Given the description of an element on the screen output the (x, y) to click on. 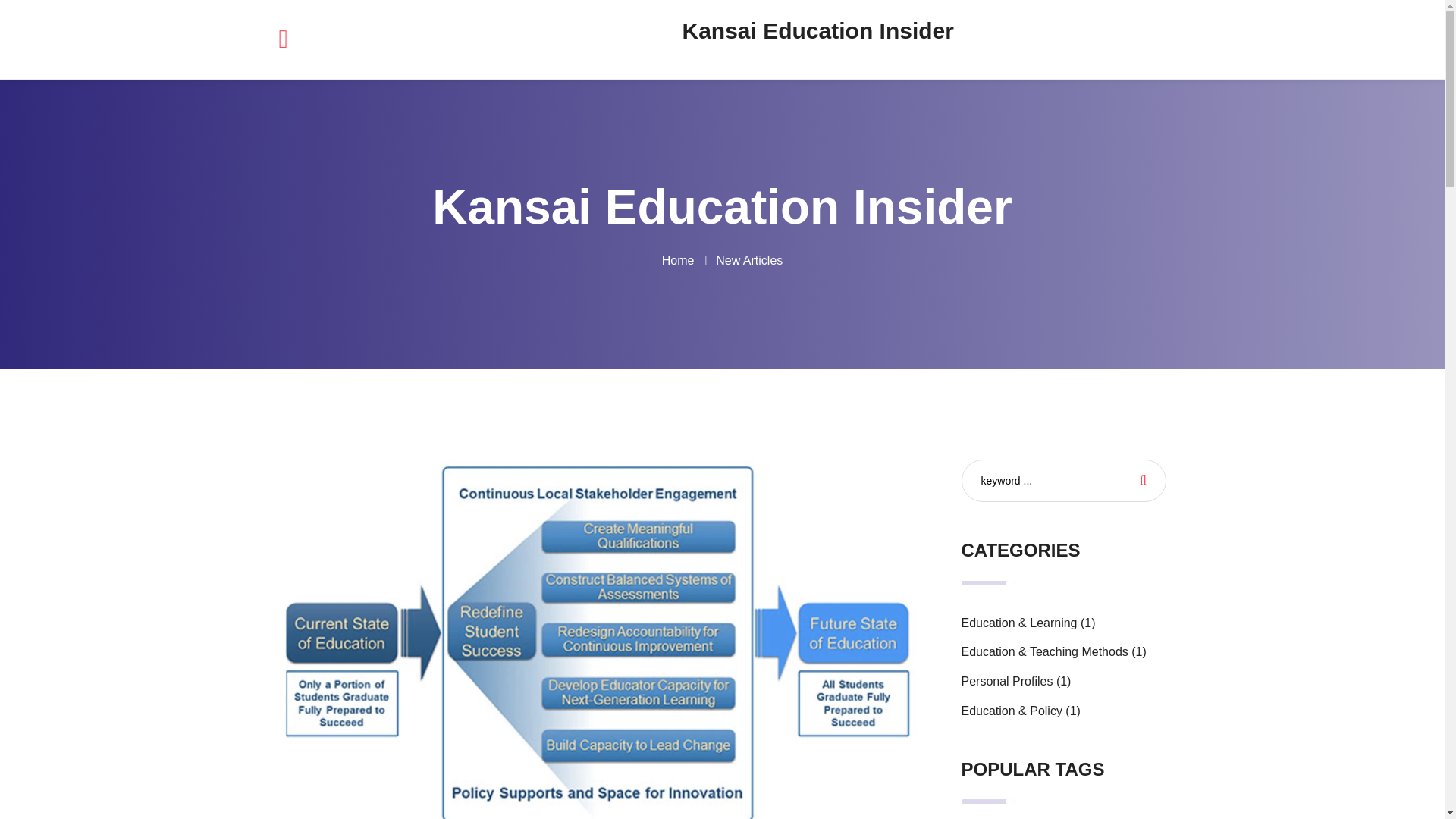
Home (678, 259)
Kansai Education Insider (817, 30)
